Given the description of an element on the screen output the (x, y) to click on. 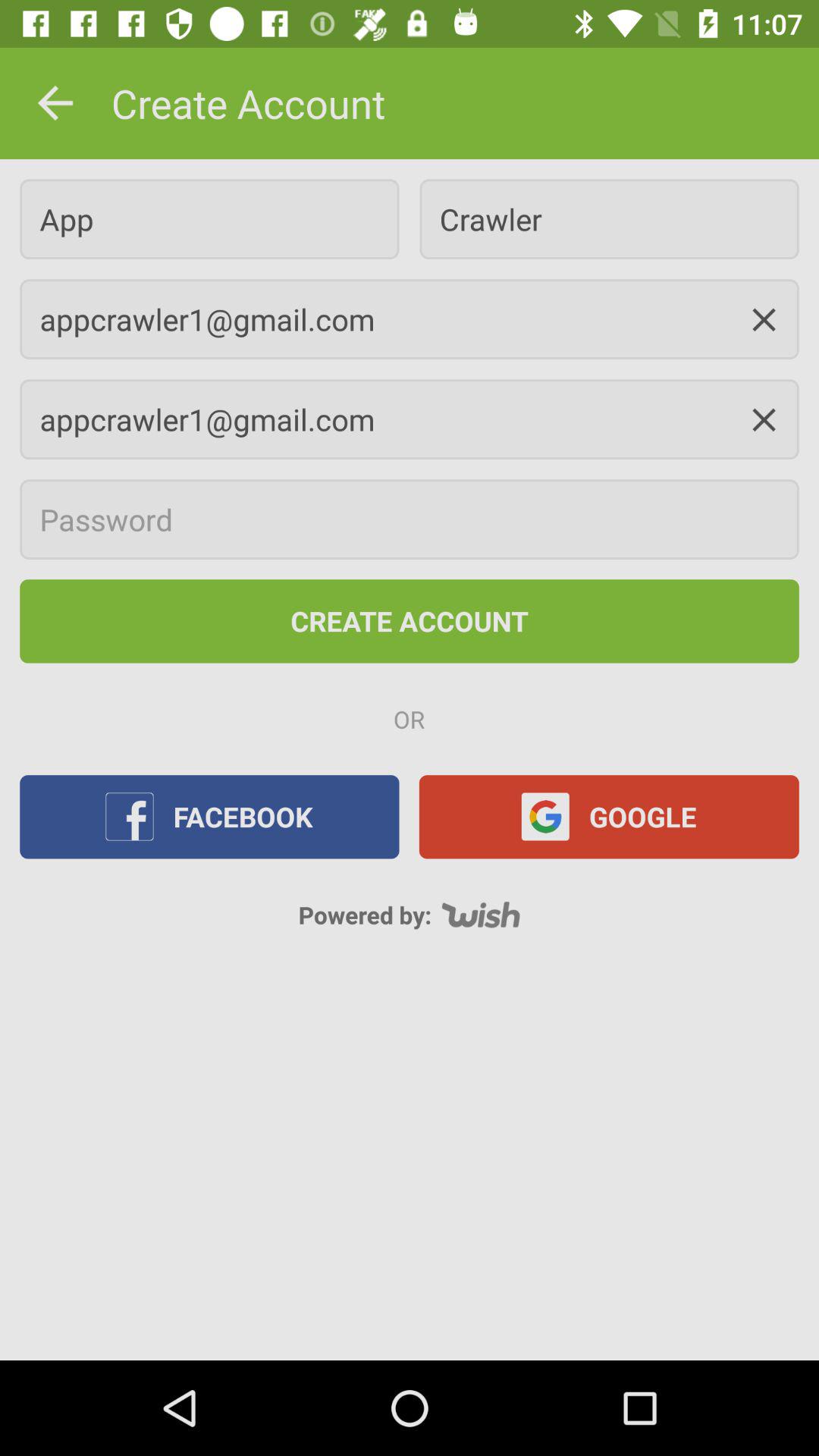
click icon next to app (609, 219)
